Given the description of an element on the screen output the (x, y) to click on. 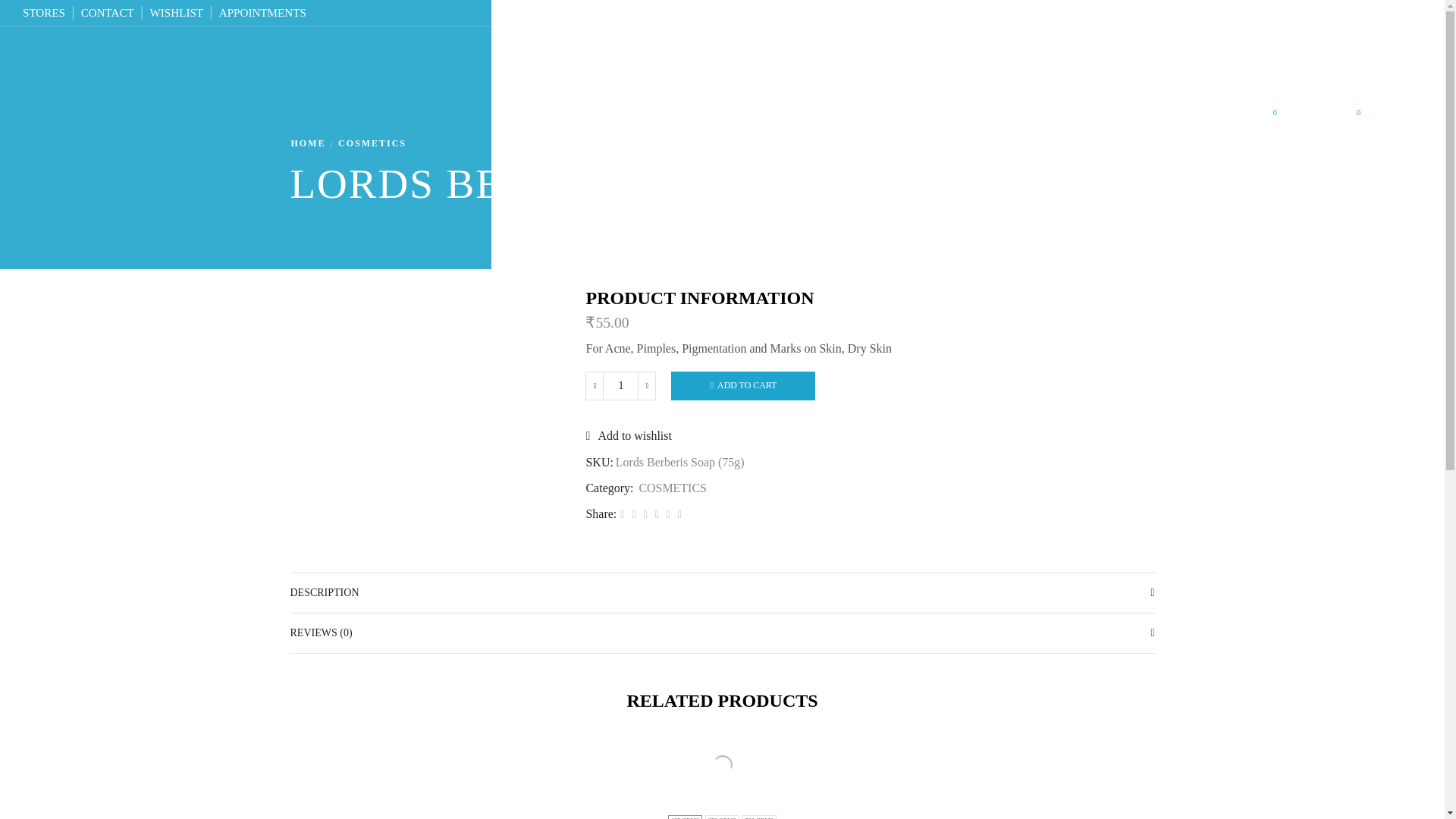
Twitter (621, 514)
1 (620, 385)
ADD TO CART (743, 386)
Mail to friend (656, 514)
CONTACT (107, 12)
WISHLIST (176, 12)
HOME (307, 143)
Facebook (633, 514)
STORES (44, 12)
Log in (1231, 254)
HOME (543, 118)
APPOINTMENTS (1288, 118)
linkedin (262, 12)
Add to wishlist (668, 514)
